Given the description of an element on the screen output the (x, y) to click on. 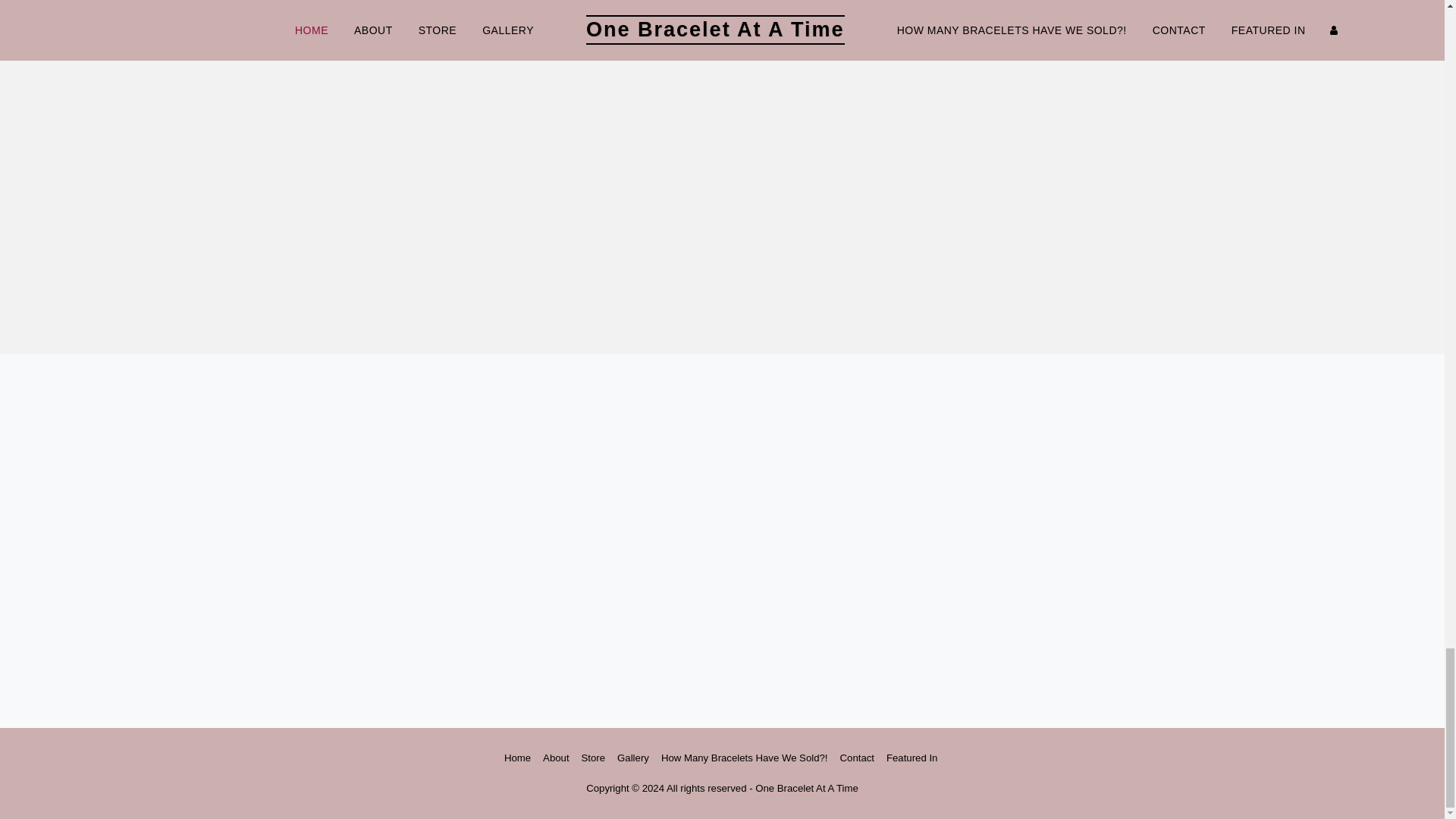
How Many Bracelets Have We Sold?! (744, 758)
Home (517, 758)
Contact (857, 758)
Store (592, 758)
Gallery (633, 758)
About (556, 758)
Featured In  (913, 758)
